Given the description of an element on the screen output the (x, y) to click on. 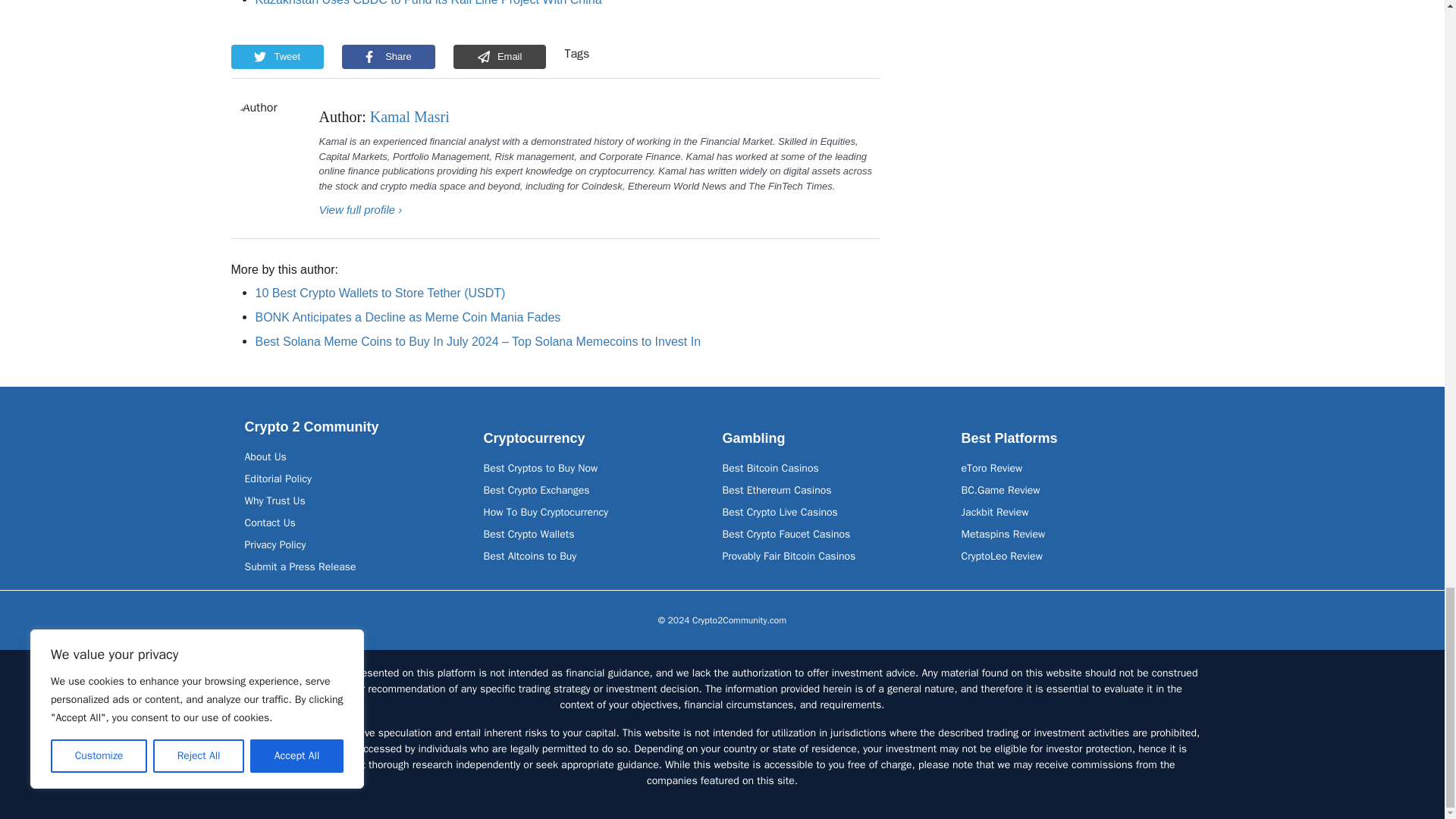
Share via Email (499, 56)
Share via Facebook (388, 56)
Share via Twitter (276, 56)
